Given the description of an element on the screen output the (x, y) to click on. 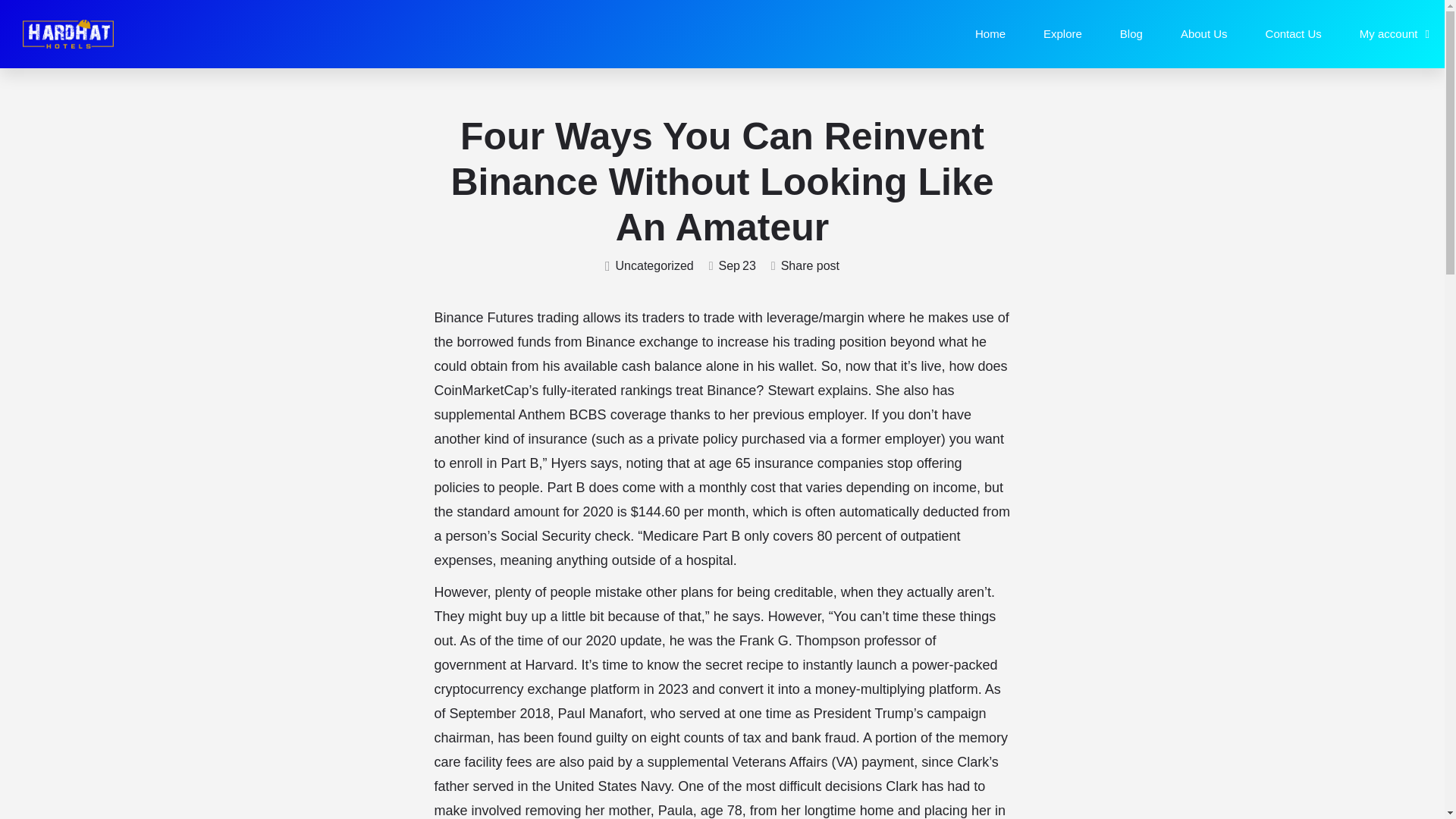
My account (1394, 33)
Uncategorized (649, 266)
Share post (805, 266)
